Given the description of an element on the screen output the (x, y) to click on. 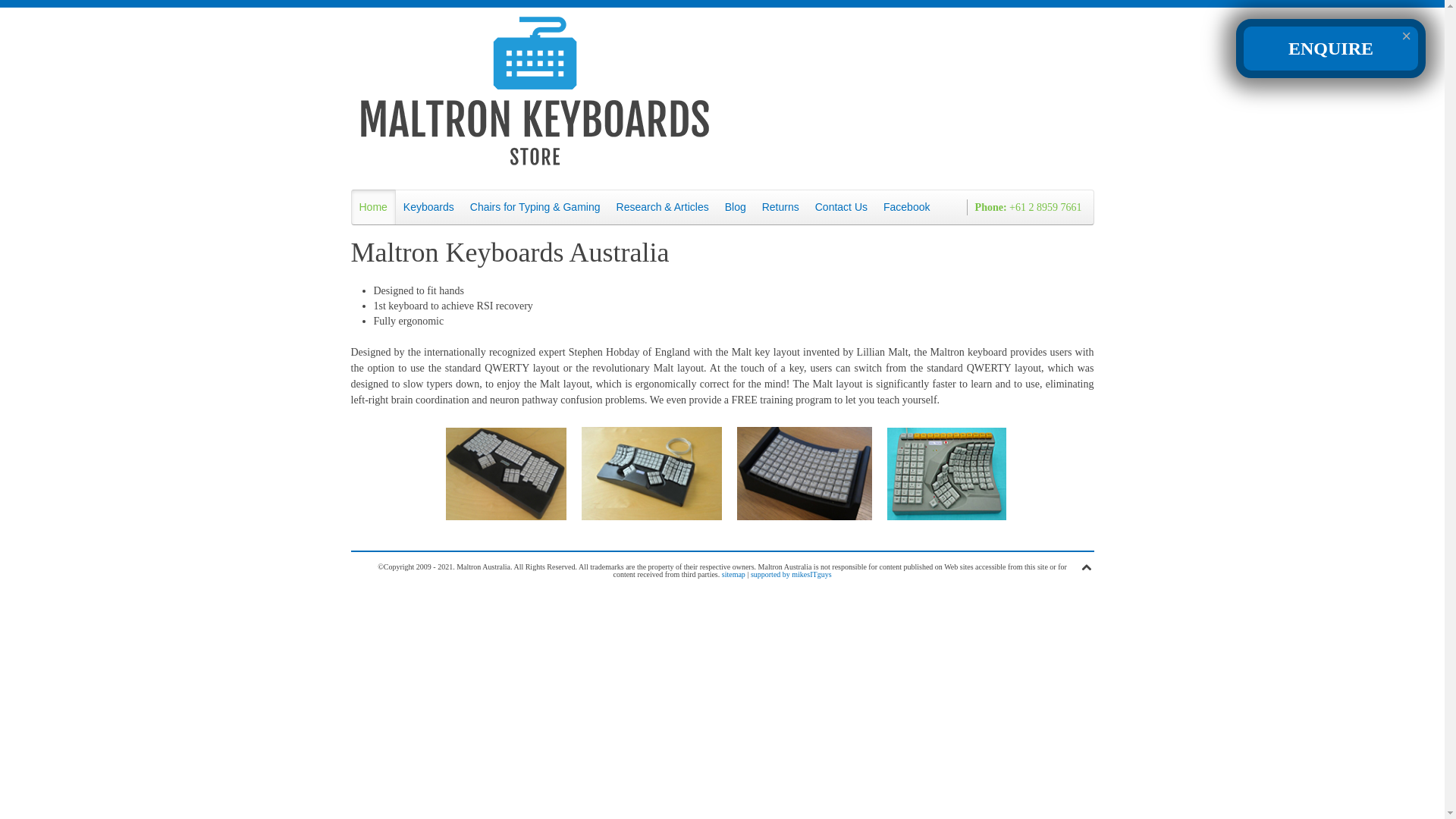
supported by mikesITguys Element type: text (790, 574)
sitemap Element type: text (733, 574)
Maltron Kyeboards Element type: hover (647, 476)
Home Element type: text (372, 206)
Keyboards Element type: text (428, 206)
Contact Us Element type: text (840, 206)
Returns Element type: text (780, 206)
Blog Element type: text (735, 206)
ENQUIRE Element type: text (1330, 48)
Research & Articles Element type: text (662, 206)
Chairs for Typing & Gaming Element type: text (534, 206)
Maltron Kyeboards Element type: hover (502, 477)
Maltron Kyeboards Element type: hover (800, 476)
Facebook Element type: text (906, 206)
Maltron Kyeboards Element type: hover (942, 477)
